Given the description of an element on the screen output the (x, y) to click on. 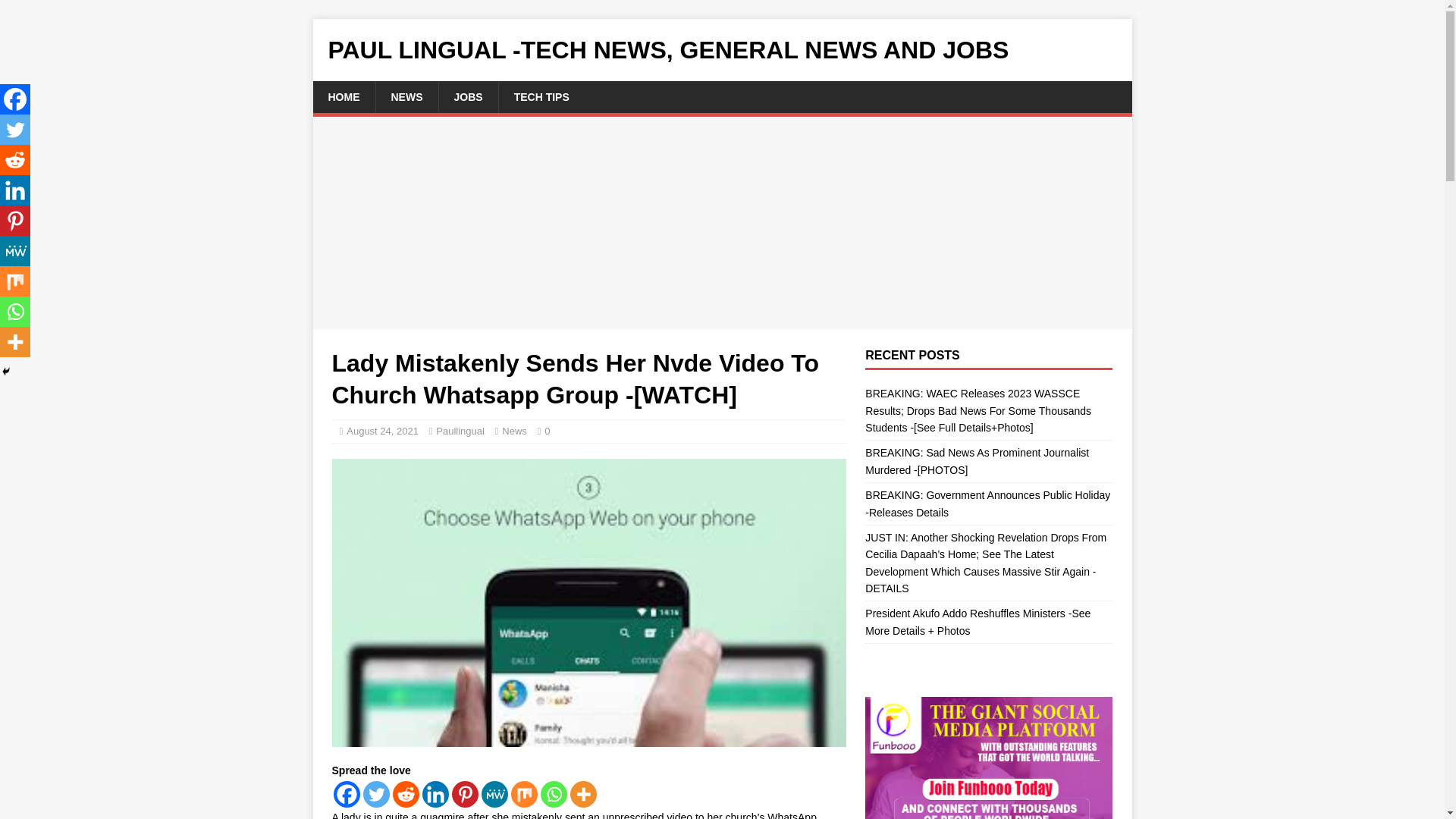
Facebook (346, 794)
NEWS (406, 97)
Facebook (15, 99)
Reddit (406, 794)
JOBS (467, 97)
Mix (524, 794)
HOME (343, 97)
MeWe (493, 794)
Pinterest (465, 794)
News (514, 430)
Twitter (375, 794)
PAUL LINGUAL -TECH NEWS, GENERAL NEWS AND JOBS (721, 49)
Linkedin (435, 794)
